Given the description of an element on the screen output the (x, y) to click on. 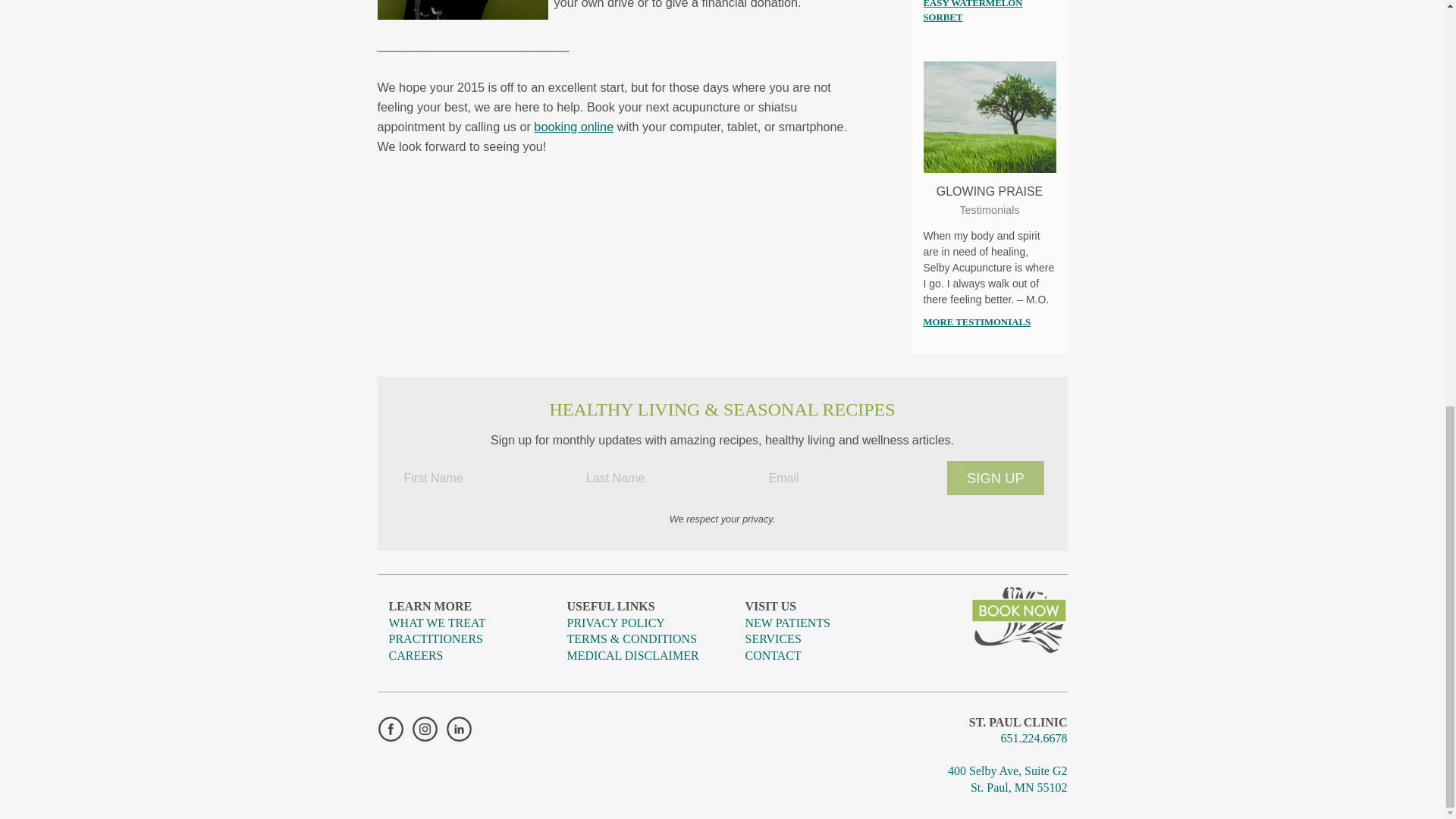
HEALTHY LIVING (933, 209)
HOLISTIC CARE (933, 148)
WELLNESS BLOG (933, 117)
NEW PATIENTS (933, 47)
RECIPES (933, 239)
SERVICES (933, 22)
CONTACT (933, 309)
